Given the description of an element on the screen output the (x, y) to click on. 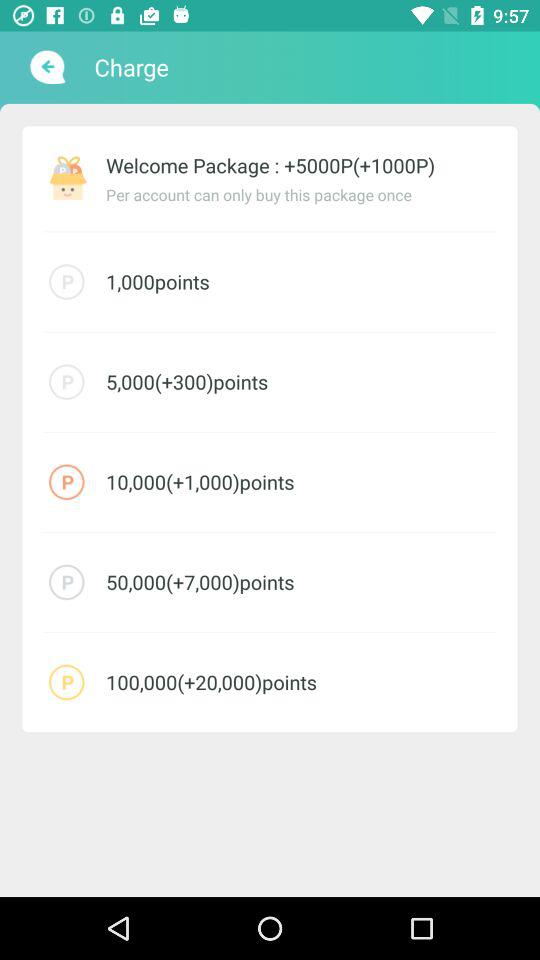
previous page (45, 67)
